Given the description of an element on the screen output the (x, y) to click on. 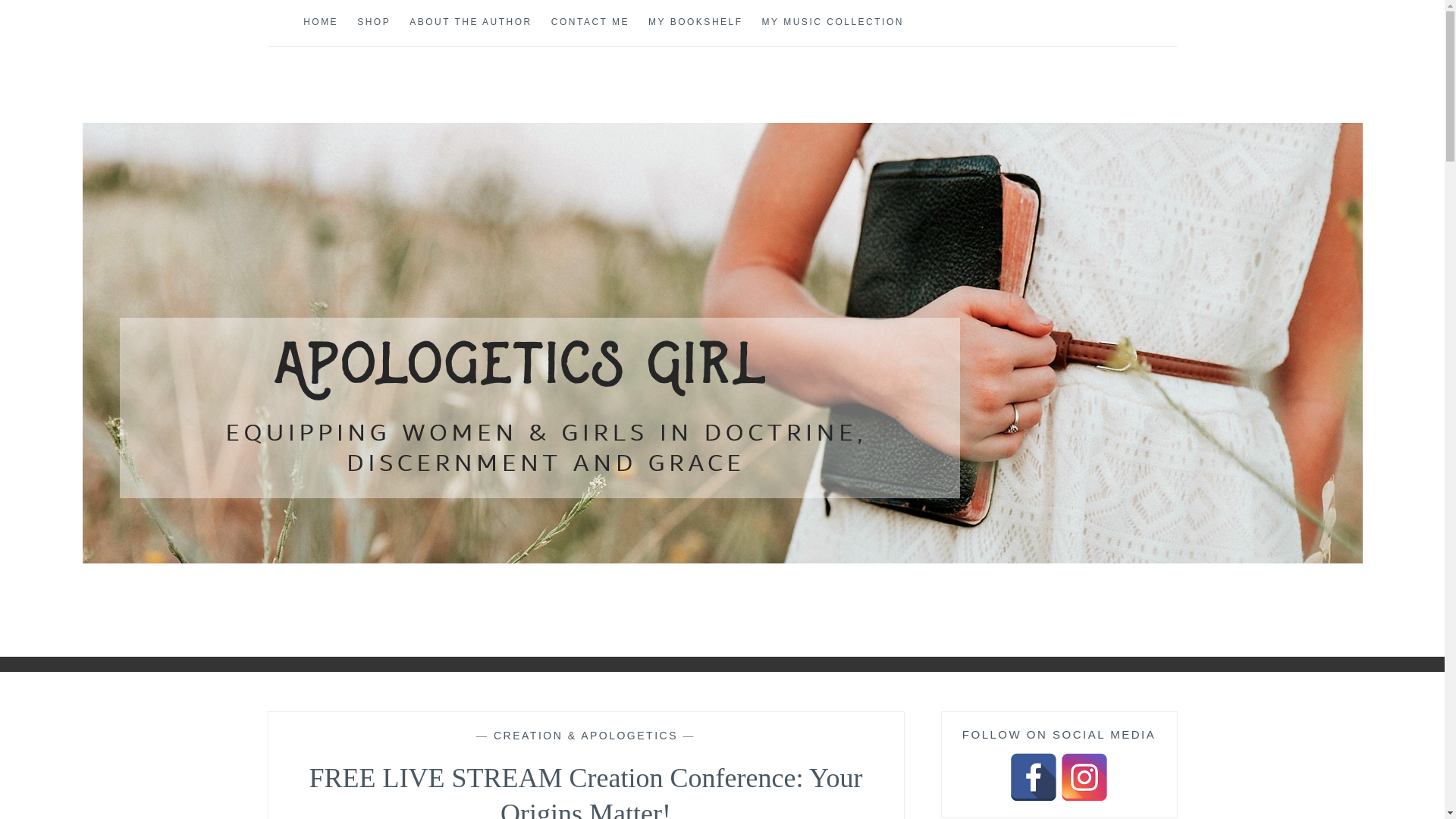
ABOUT THE AUTHOR (470, 22)
MY BOOKSHELF (694, 22)
Facebook (1033, 776)
SHOP (373, 22)
Instagram (1083, 776)
MY MUSIC COLLECTION (832, 22)
HOME (319, 22)
CONTACT ME (589, 22)
